Given the description of an element on the screen output the (x, y) to click on. 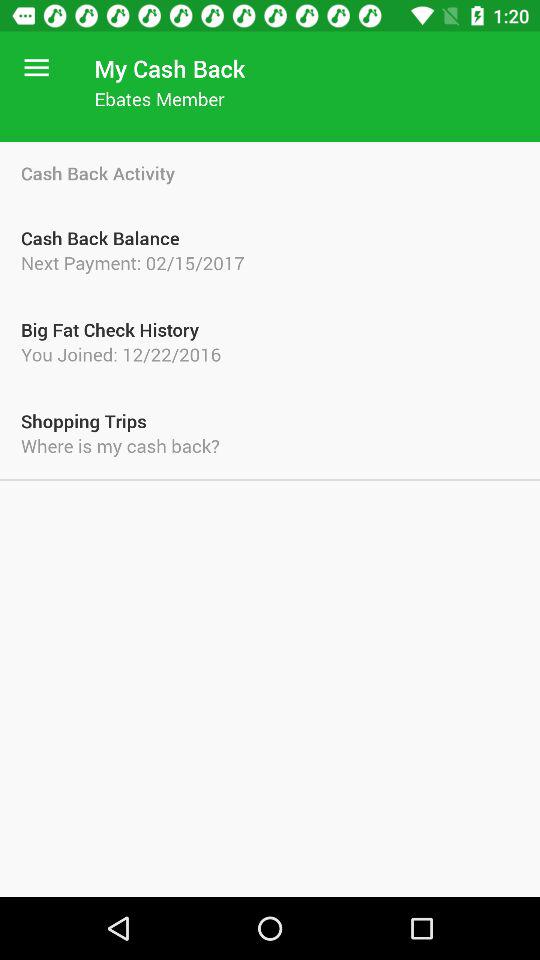
open the item above the shopping trips (270, 353)
